Given the description of an element on the screen output the (x, y) to click on. 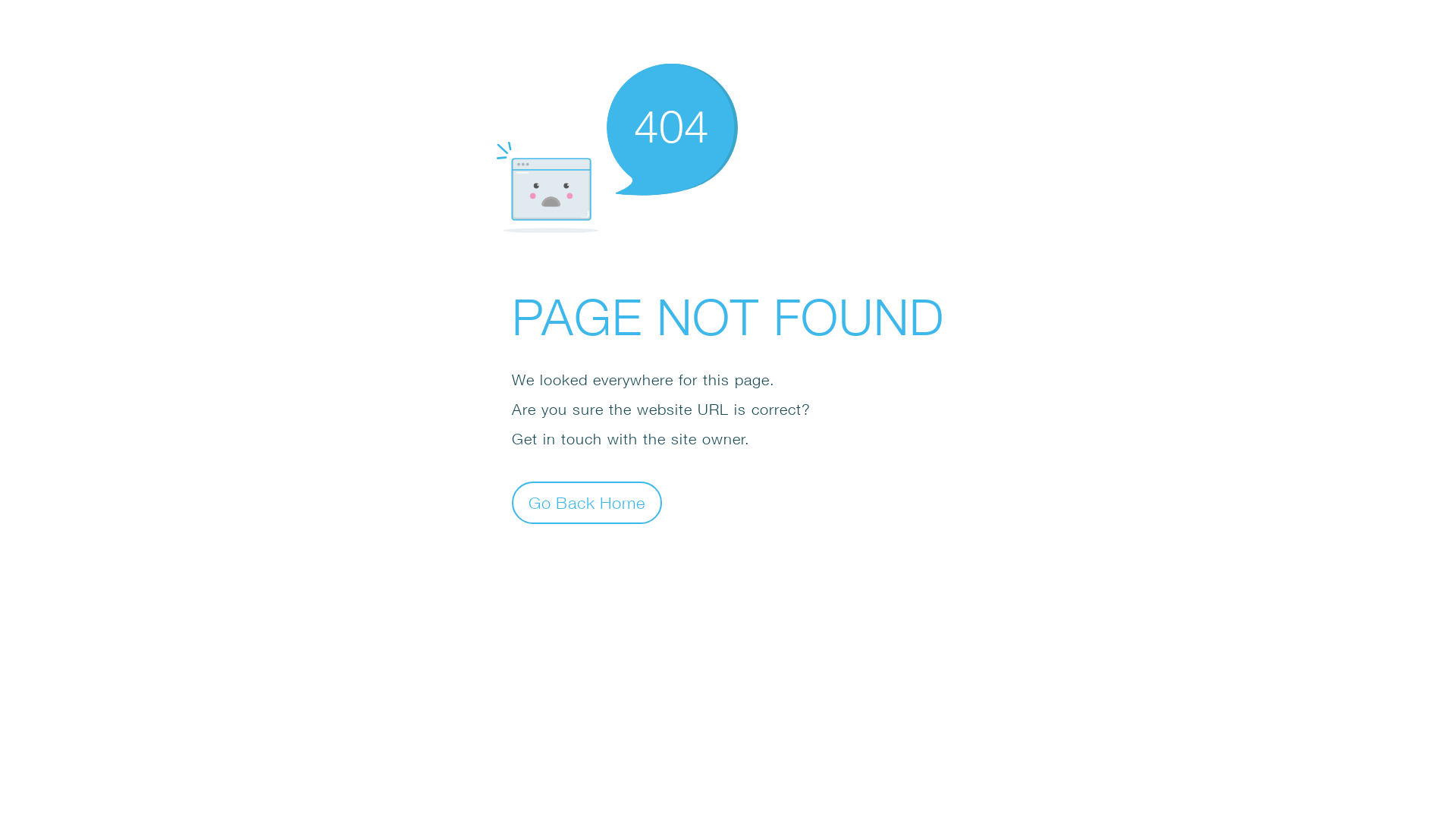
Go Back Home Element type: text (586, 502)
